Given the description of an element on the screen output the (x, y) to click on. 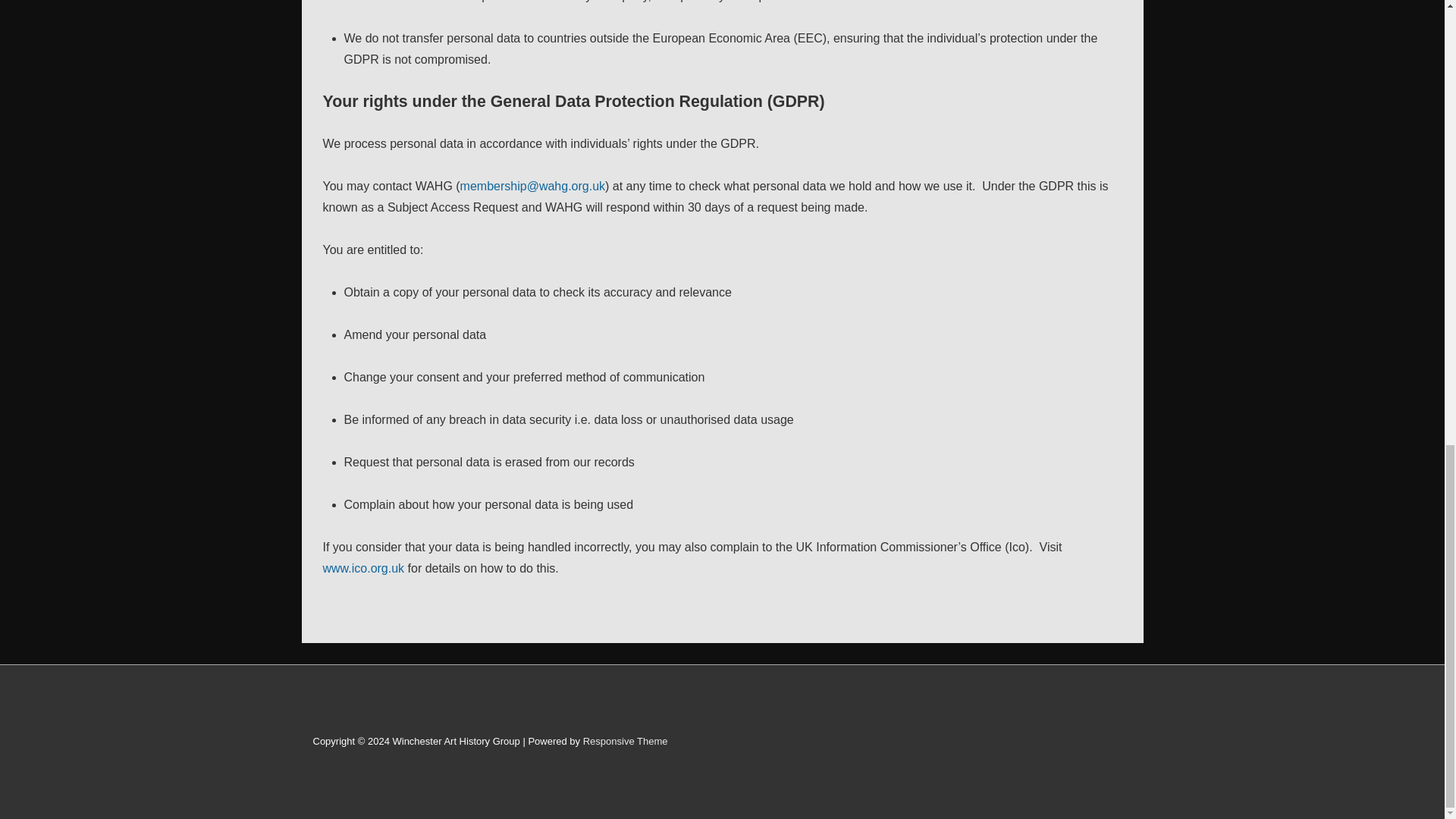
Responsive Theme (625, 740)
www.ico.org.uk (363, 567)
